Given the description of an element on the screen output the (x, y) to click on. 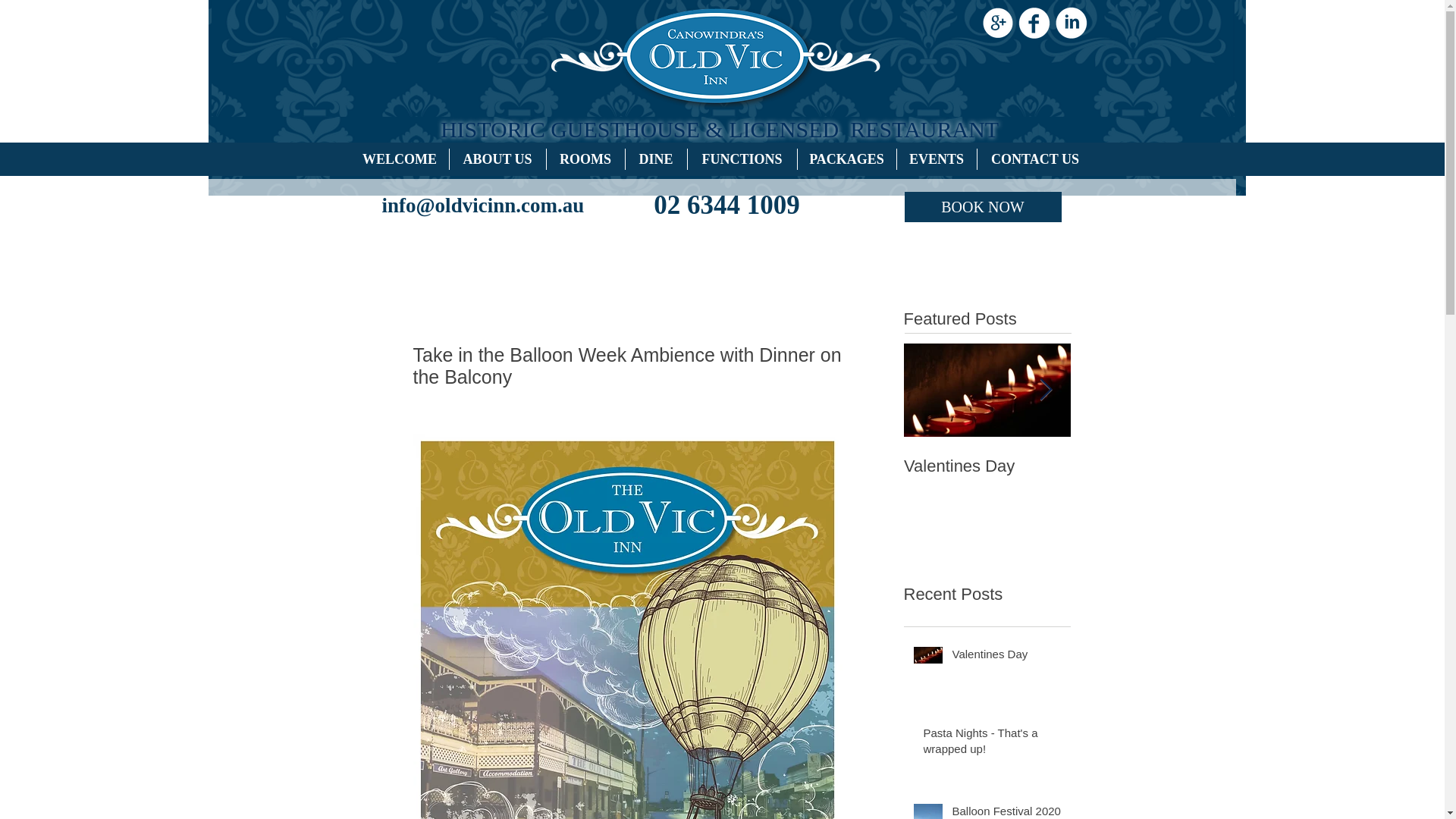
DINE (654, 158)
Pasta Nights - That's a wrapped up! (1153, 476)
EVENTS (935, 158)
CONTACT US (1034, 158)
ROOMS (585, 158)
FUNCTIONS (741, 158)
Pasta Nights - That's a wrapped up! (992, 743)
ABOUT US (496, 158)
WELCOME (399, 158)
Untitled1.png (715, 331)
Balloon Festival 2020 (1006, 811)
Valentines Day (1006, 657)
Untitled-1a.png (722, 58)
PACKAGES (846, 158)
